Given the description of an element on the screen output the (x, y) to click on. 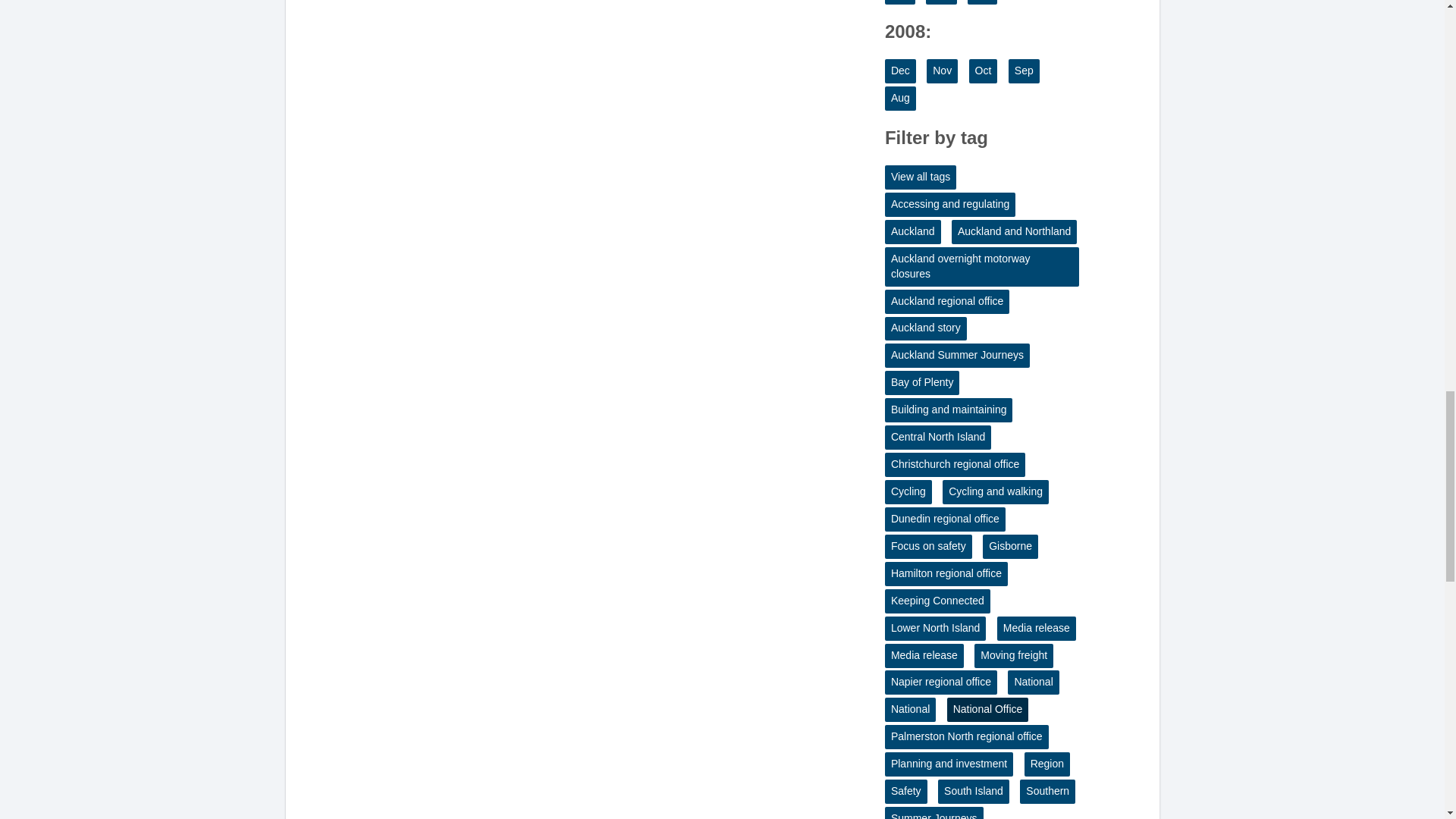
View items tagged Christchurch regional office (955, 464)
View items tagged Focus on safety (928, 546)
View items tagged Auckland Summer Journeys (957, 355)
View items tagged Dunedin regional office (945, 518)
View items tagged Cycling (908, 491)
View all tags (920, 177)
View items tagged Bay of Plenty (922, 382)
View items tagged Gisborne (1010, 546)
View items tagged Auckland and Northland (1014, 232)
View items tagged Auckland regional office (947, 301)
View items tagged Keeping Connected (937, 600)
View items tagged Auckland overnight motorway closures (981, 266)
View items tagged Accessing and regulating (949, 204)
View items tagged Cycling and walking (995, 491)
View items tagged Auckland (912, 232)
